Given the description of an element on the screen output the (x, y) to click on. 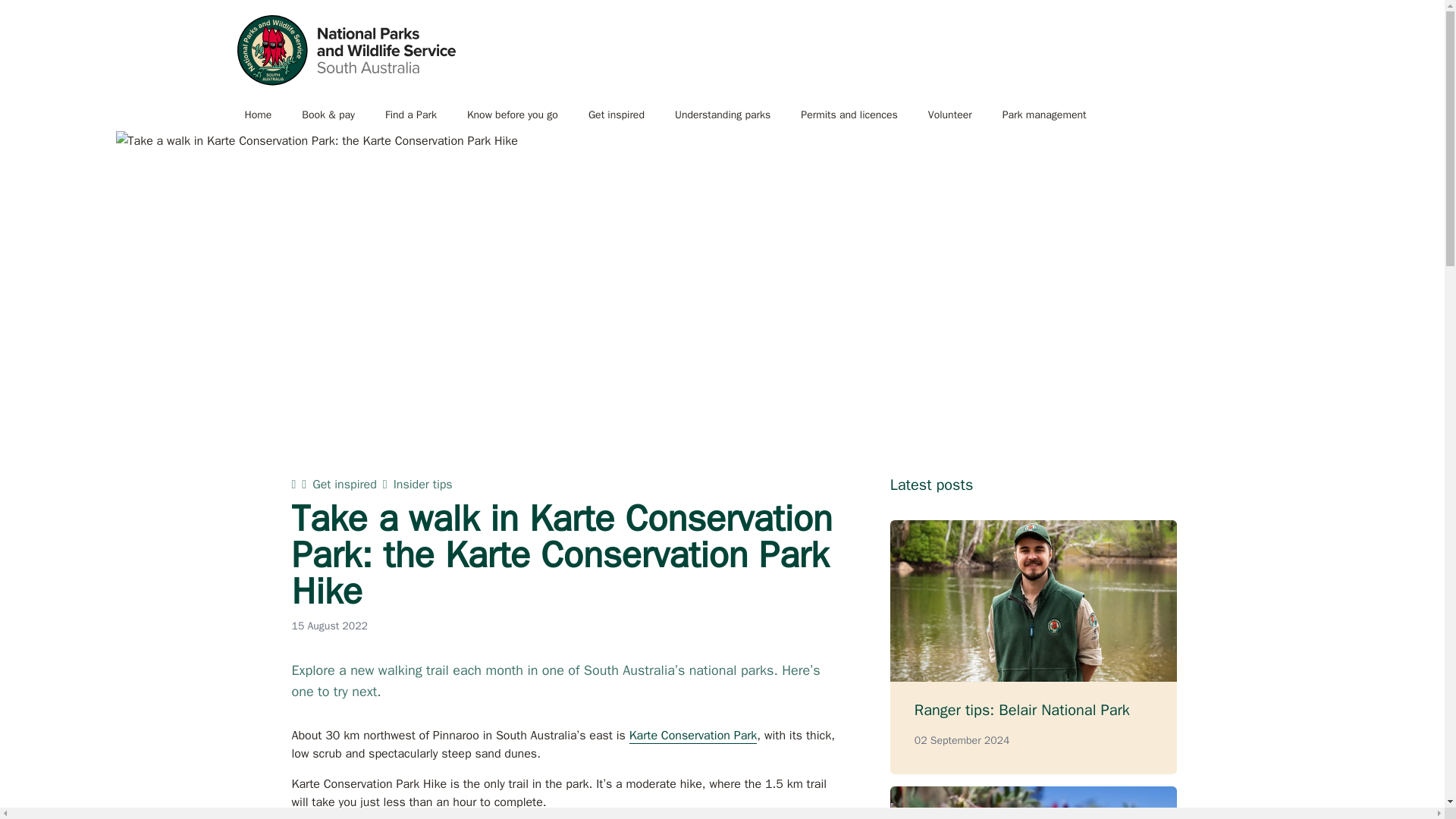
Find a Park (410, 115)
Know before you go (512, 115)
Understanding parks (722, 115)
Home (257, 115)
Get inspired (616, 115)
Parks (344, 50)
